Given the description of an element on the screen output the (x, y) to click on. 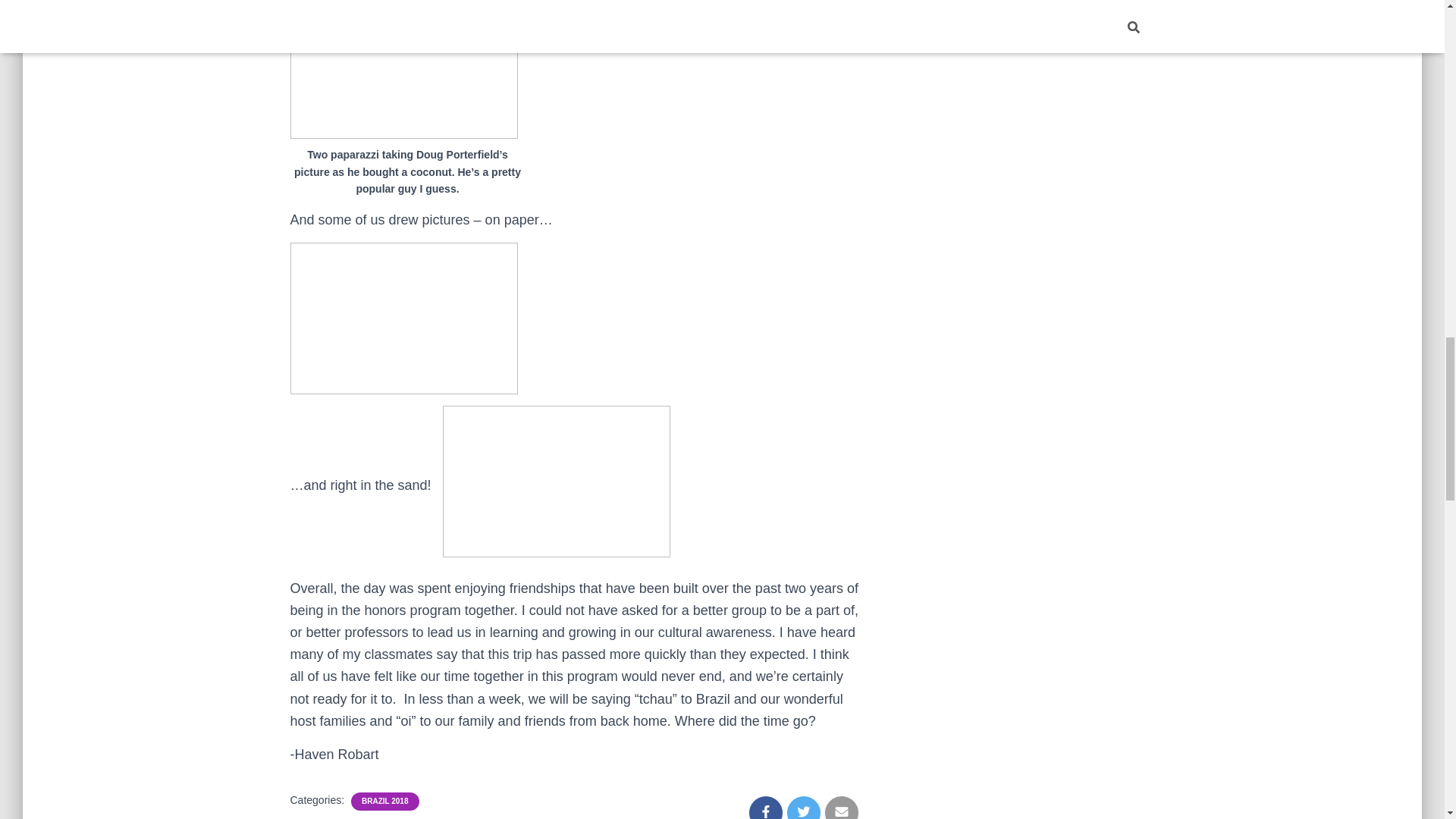
BRAZIL 2018 (384, 801)
